Given the description of an element on the screen output the (x, y) to click on. 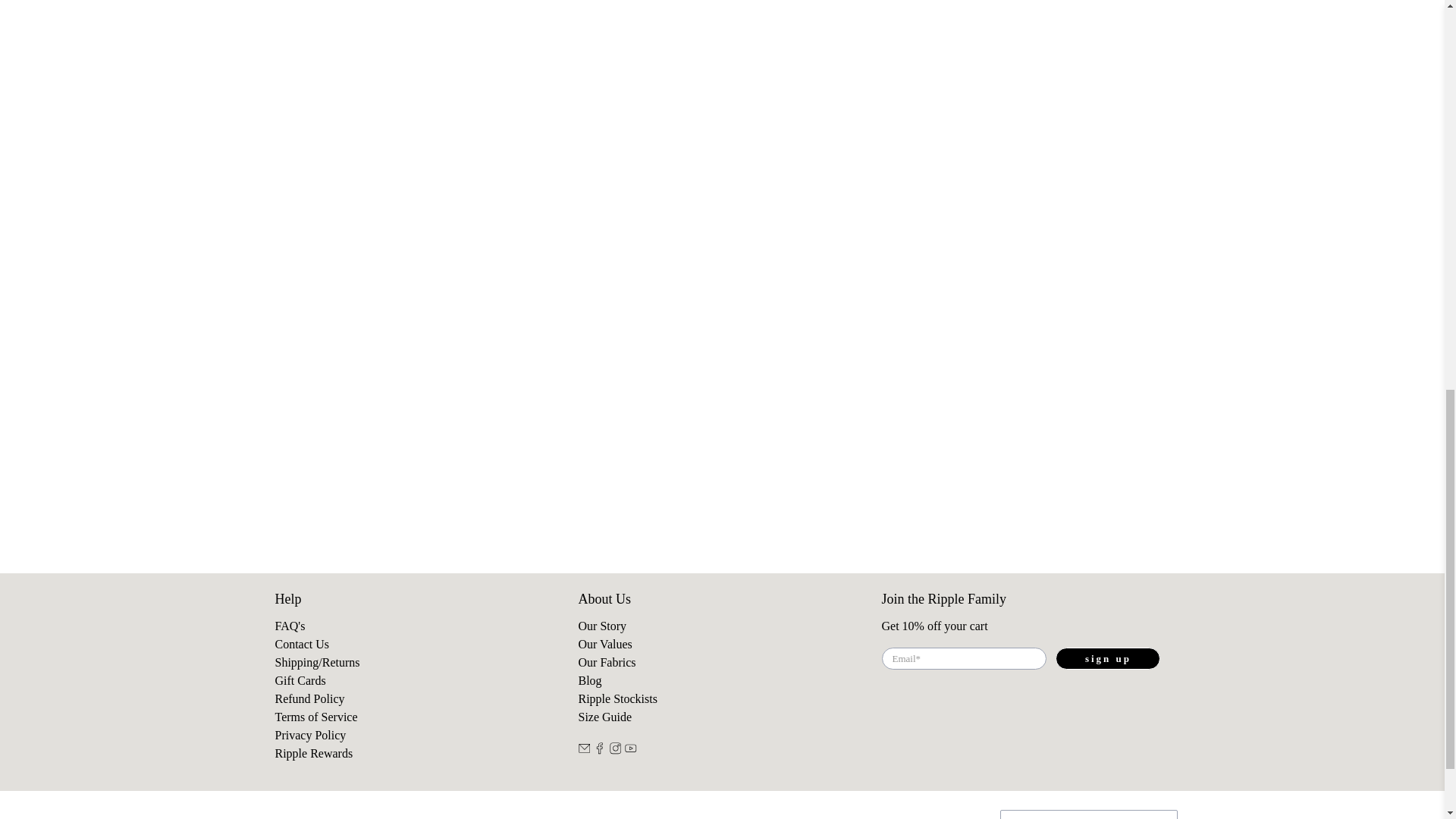
Ripple Yoga Wear on Facebook (599, 749)
Ripple Yoga Wear on YouTube (630, 749)
Ripple Yoga Wear on Instagram (615, 749)
Email Ripple Yoga Wear (583, 749)
